Given the description of an element on the screen output the (x, y) to click on. 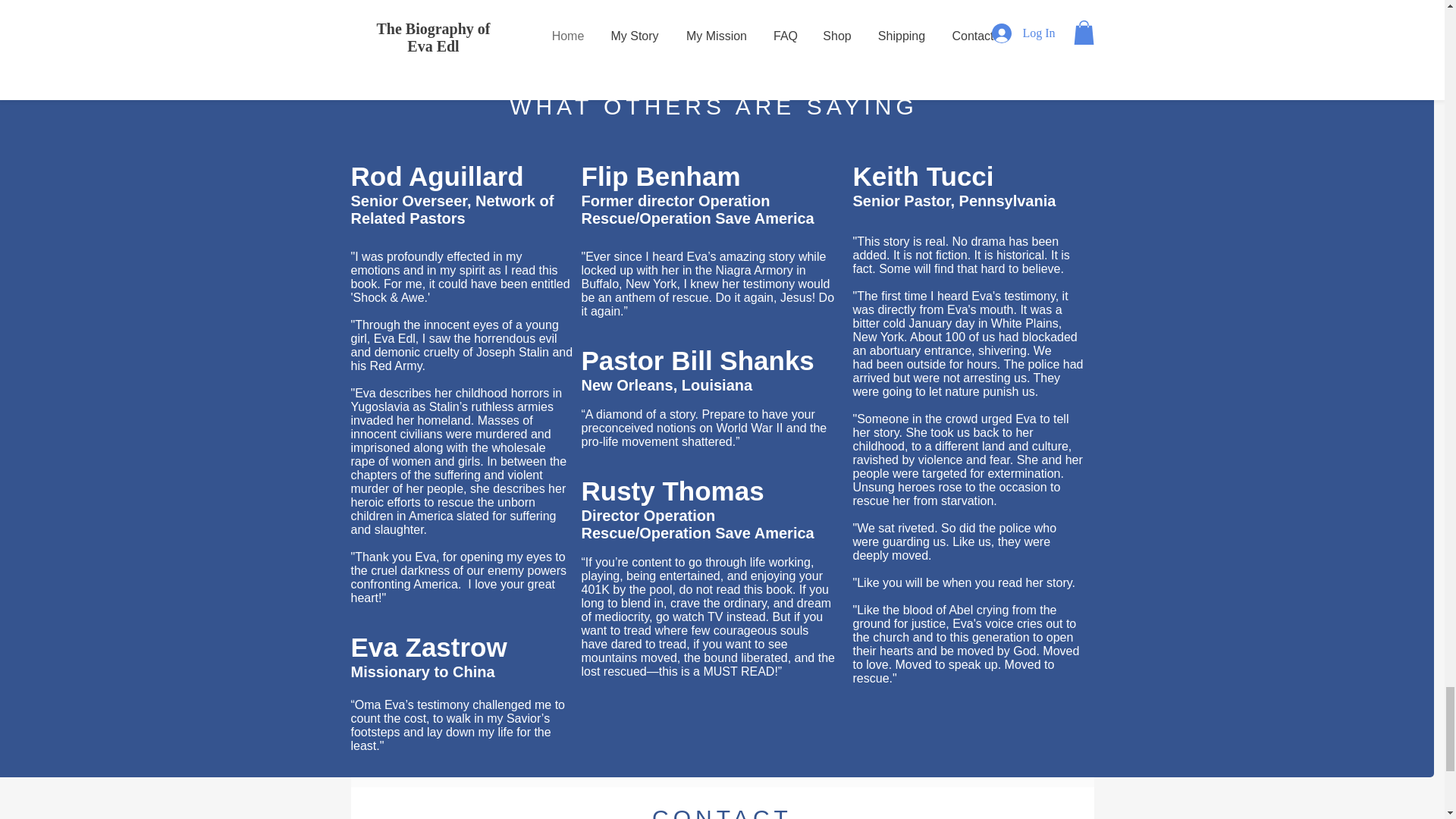
DocJohnstonNovels.com (834, 5)
